Given the description of an element on the screen output the (x, y) to click on. 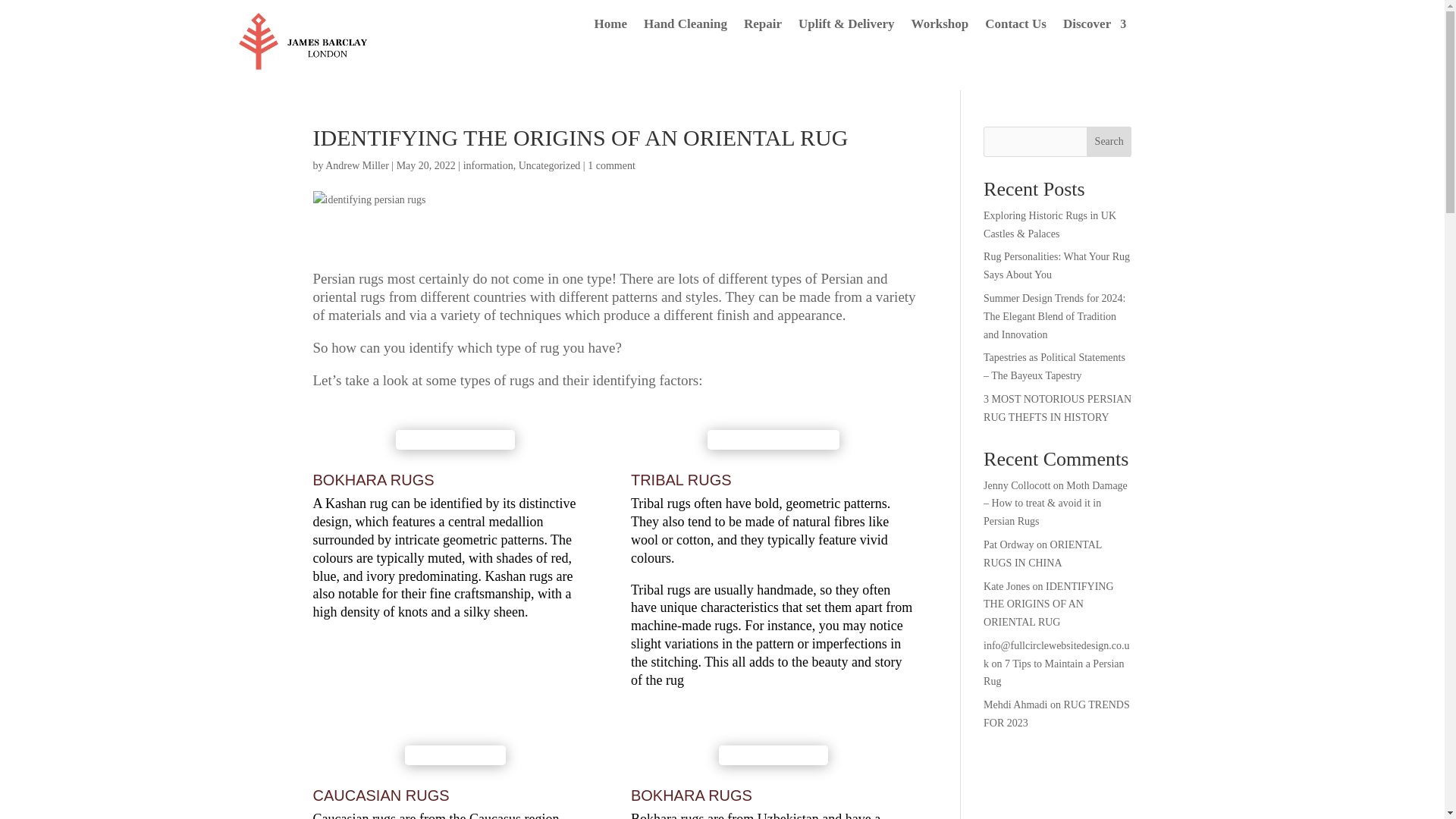
Repair (762, 27)
Uncategorized (549, 165)
3 MOST NOTORIOUS PERSIAN RUG THEFTS IN HISTORY (1057, 408)
1 comment (611, 165)
Contact Us (1015, 27)
Discover (1093, 27)
ORIENTAL RUGS IN CHINA (1043, 553)
JB LOGO. (309, 49)
RUG TRENDS FOR 2023 (1056, 713)
Posts by Andrew Miller (356, 165)
Home (610, 27)
Mehdi Ahmadi (1015, 704)
Andrew Miller (356, 165)
IDENTIFYING THE ORIGINS OF AN ORIENTAL RUG (1048, 604)
Workshop (940, 27)
